Given the description of an element on the screen output the (x, y) to click on. 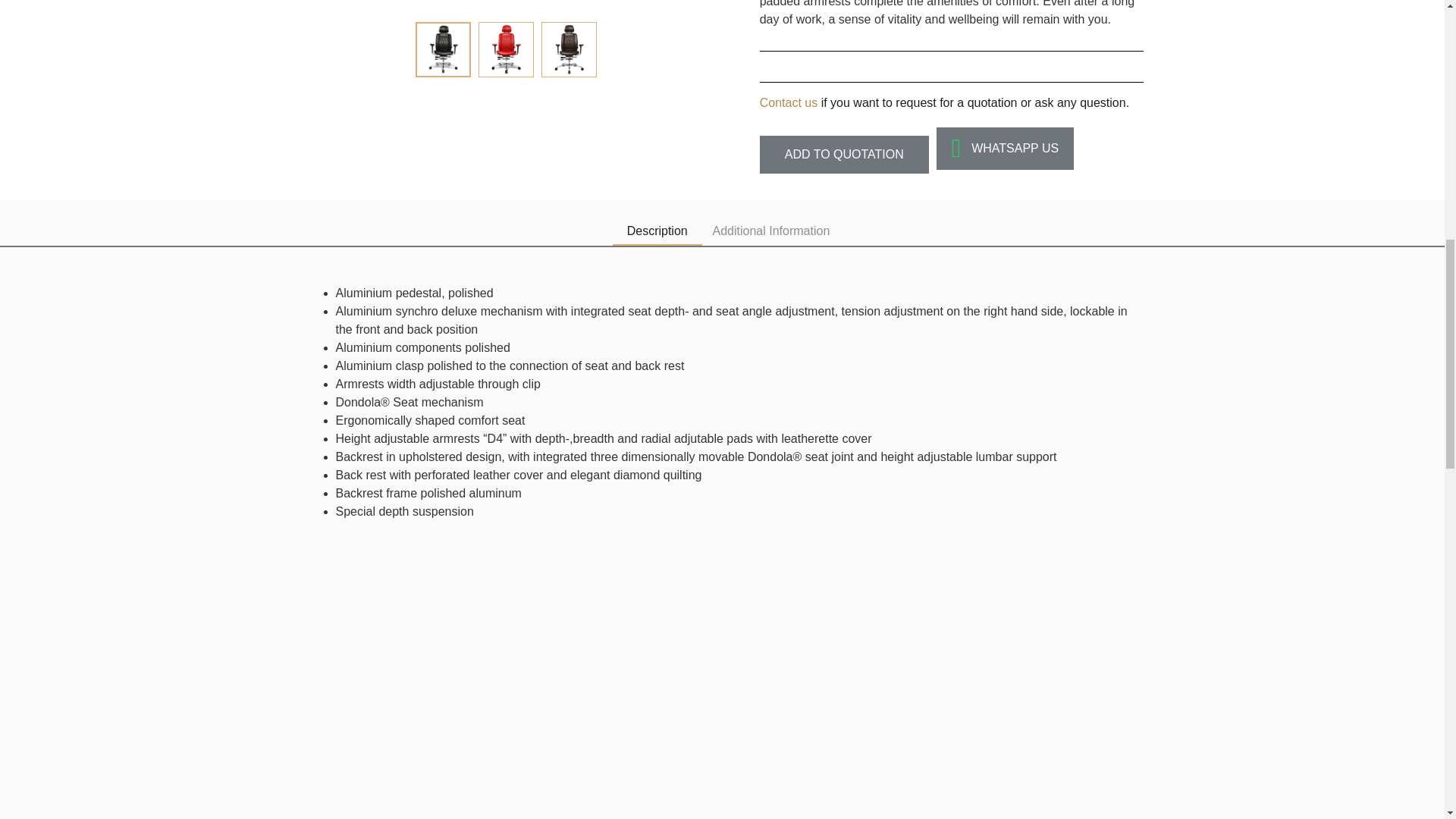
WHATSAPP US (1005, 148)
Contact us (788, 102)
ADD TO QUOTATION (844, 154)
Description (656, 230)
Additional Information (770, 231)
